Given the description of an element on the screen output the (x, y) to click on. 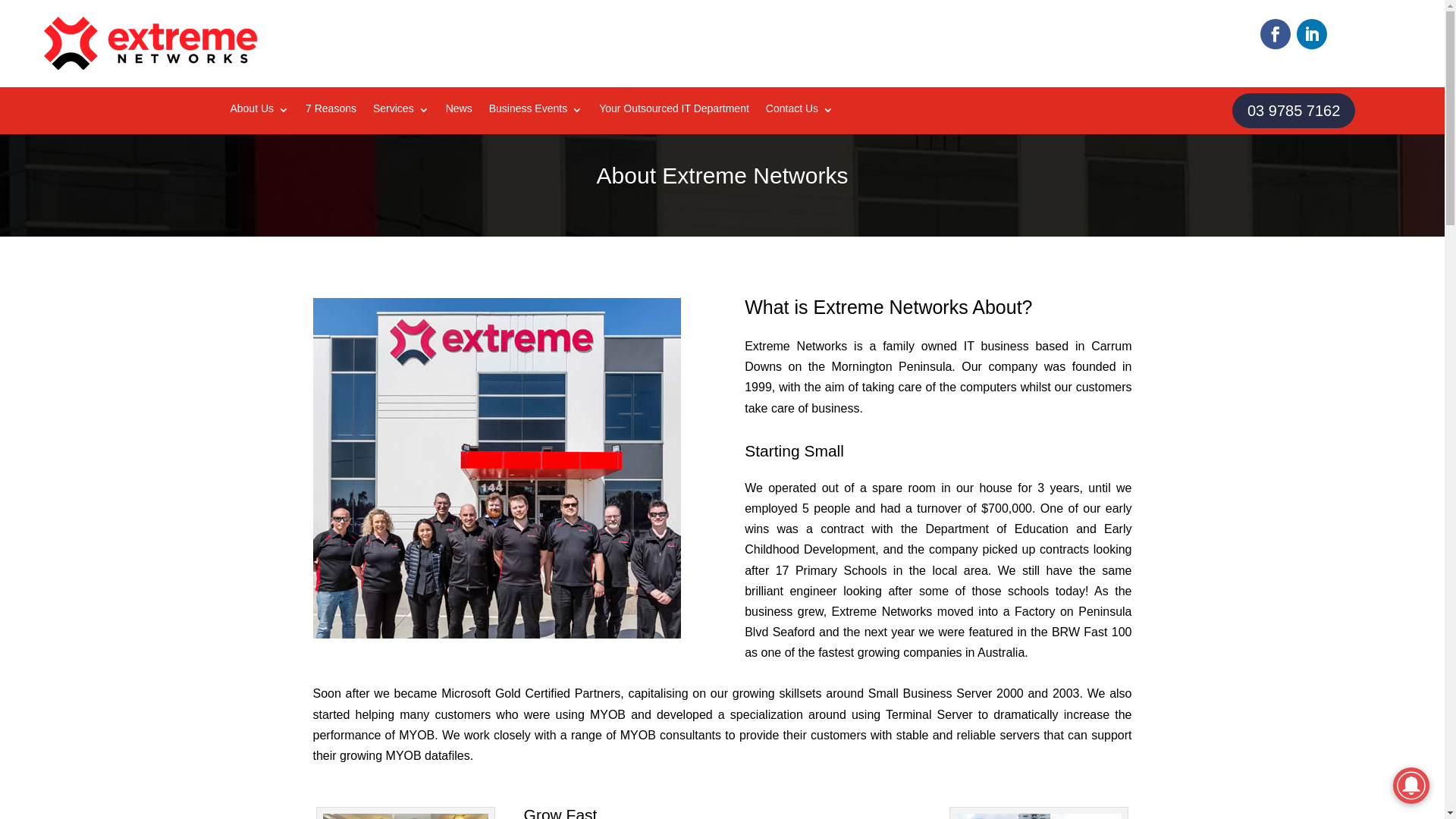
extremenetworks Element type: hover (150, 43)
Contact Us Element type: text (799, 112)
03 9785 7162 Element type: text (1293, 110)
About Us Element type: text (258, 112)
Follow on Facebook Element type: hover (1275, 33)
News Element type: text (458, 112)
Follow on LinkedIn Element type: hover (1311, 33)
Services Element type: text (401, 112)
7 Reasons Element type: text (330, 112)
Your Outsourced IT Department Element type: text (674, 112)
Business Events Element type: text (536, 112)
about-img Element type: hover (496, 468)
